Given the description of an element on the screen output the (x, y) to click on. 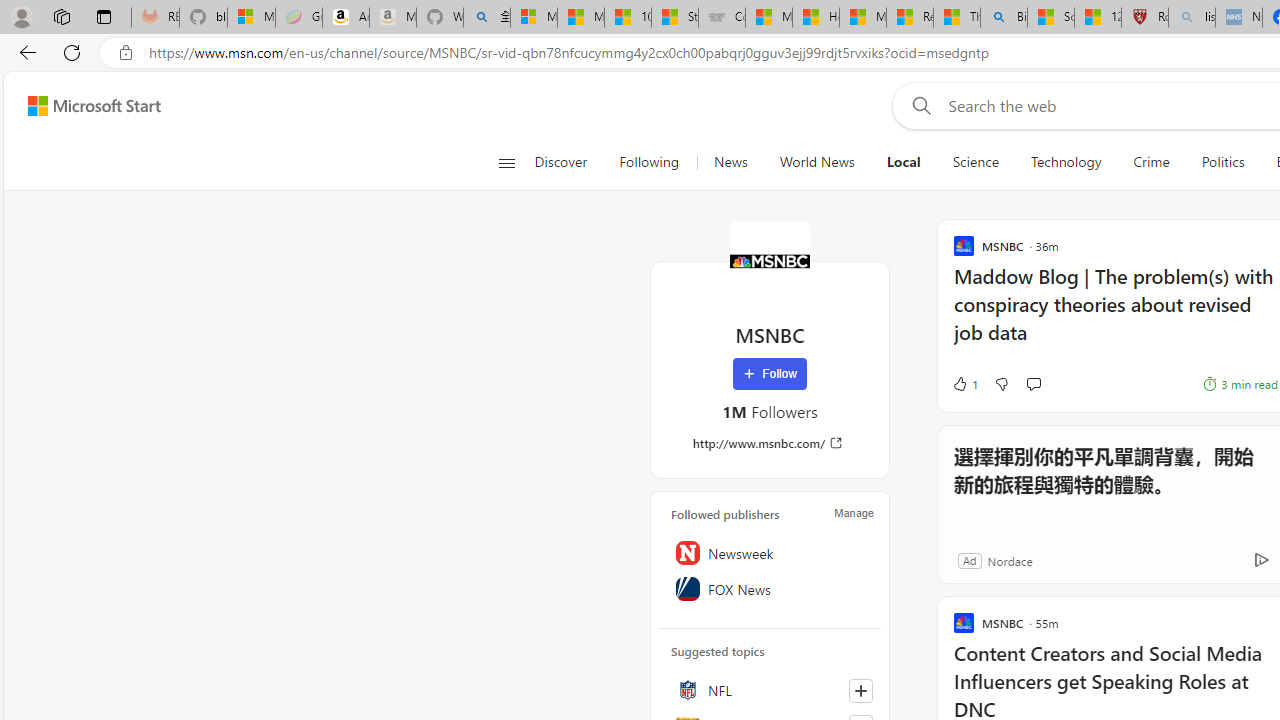
Recipes - MSN (910, 17)
How I Got Rid of Microsoft Edge's Unnecessary Features (815, 17)
